Given the description of an element on the screen output the (x, y) to click on. 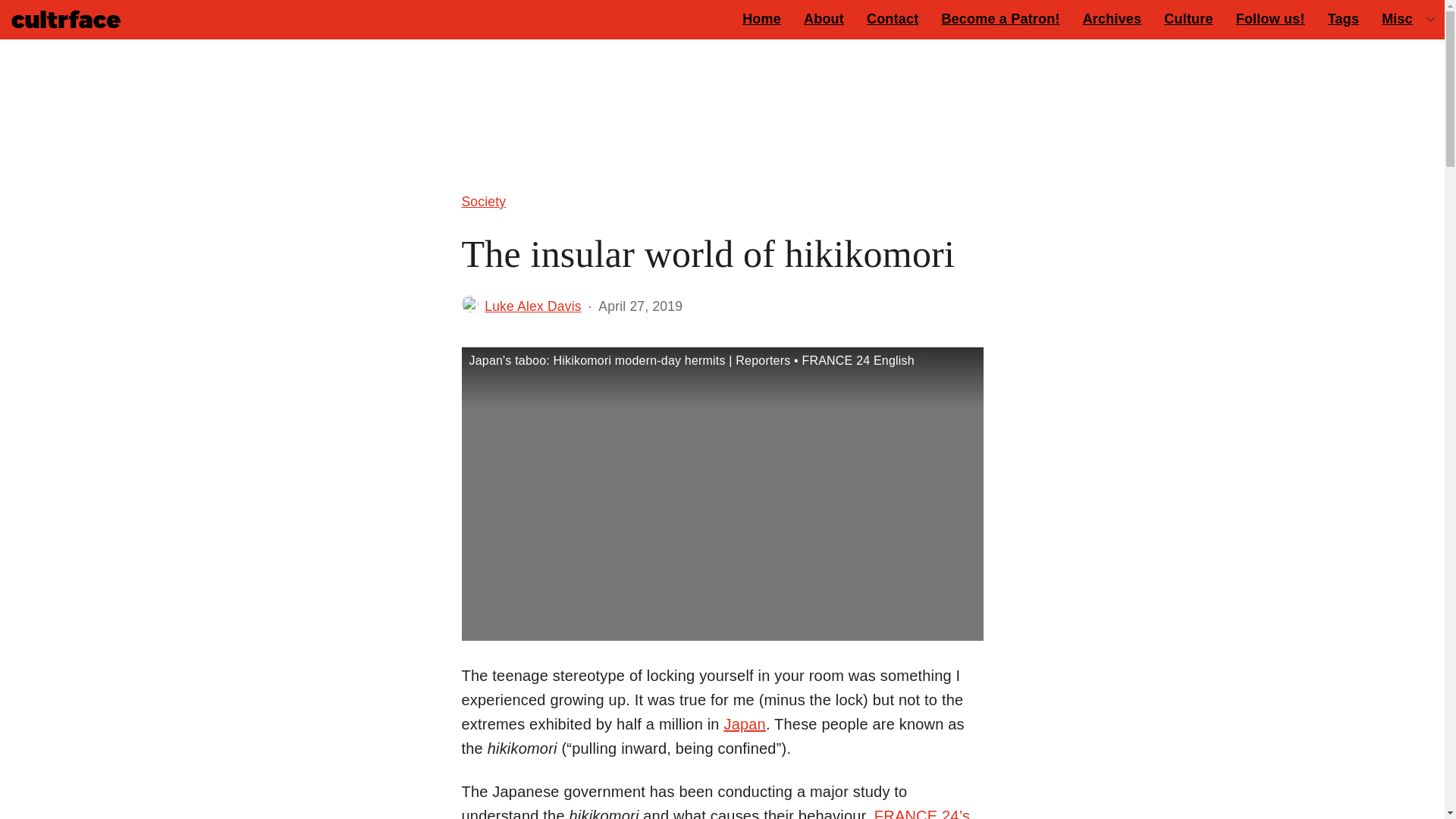
Posts by Luke Alex Davis (532, 305)
Society (483, 201)
Misc (1396, 18)
Contact (893, 18)
Culture (1188, 18)
Tags (1343, 18)
Archives (1112, 18)
Japan (744, 723)
Become a Patron! (1000, 18)
Skip to content (23, 19)
About (824, 18)
Home (761, 18)
Follow us! (1270, 18)
Luke Alex Davis (532, 305)
